Given the description of an element on the screen output the (x, y) to click on. 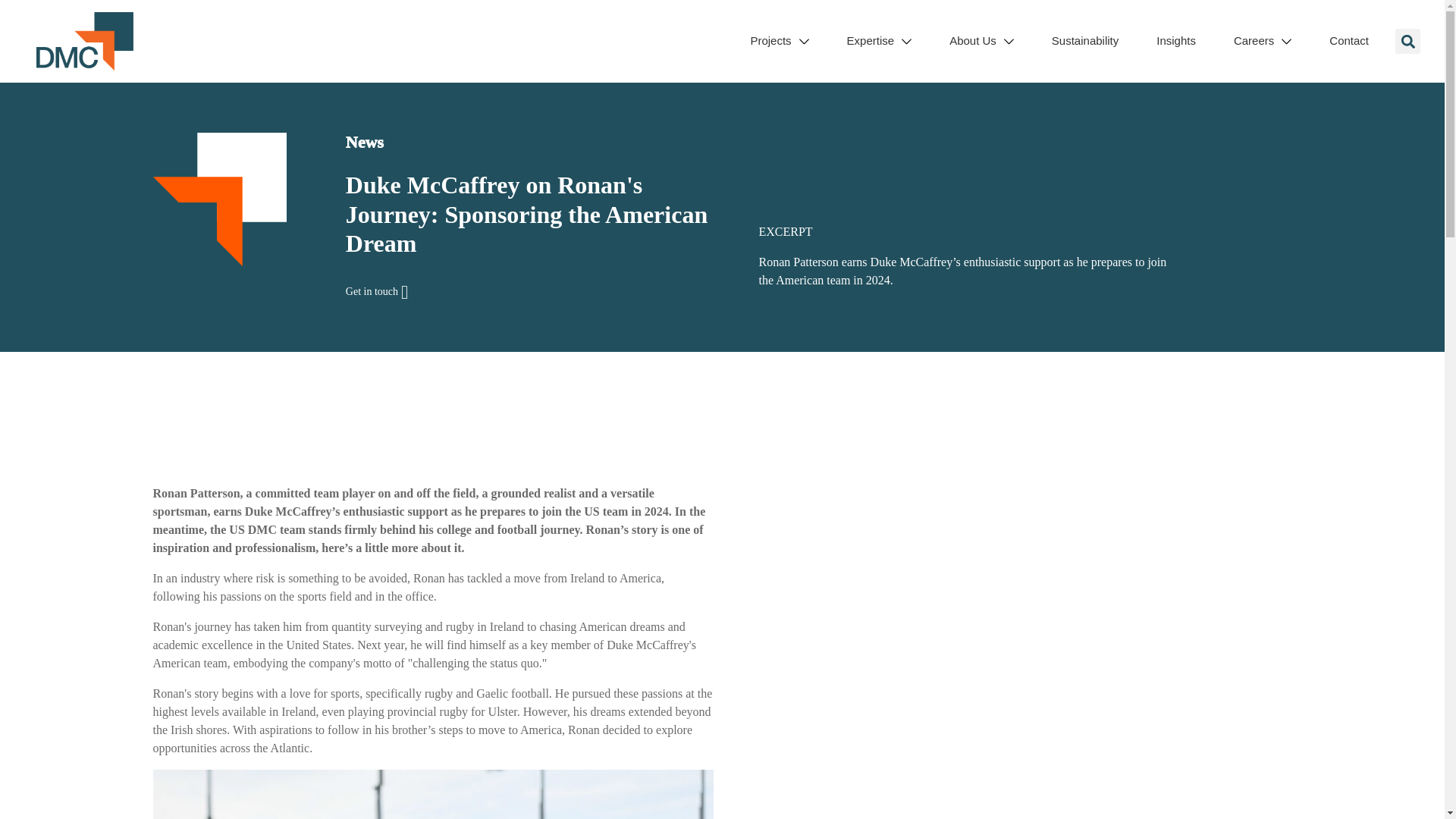
About Us (981, 41)
Expertise (879, 41)
Contact (1348, 41)
Insights (1175, 41)
Careers (1262, 41)
Sustainability (1084, 41)
Projects (778, 41)
